Given the description of an element on the screen output the (x, y) to click on. 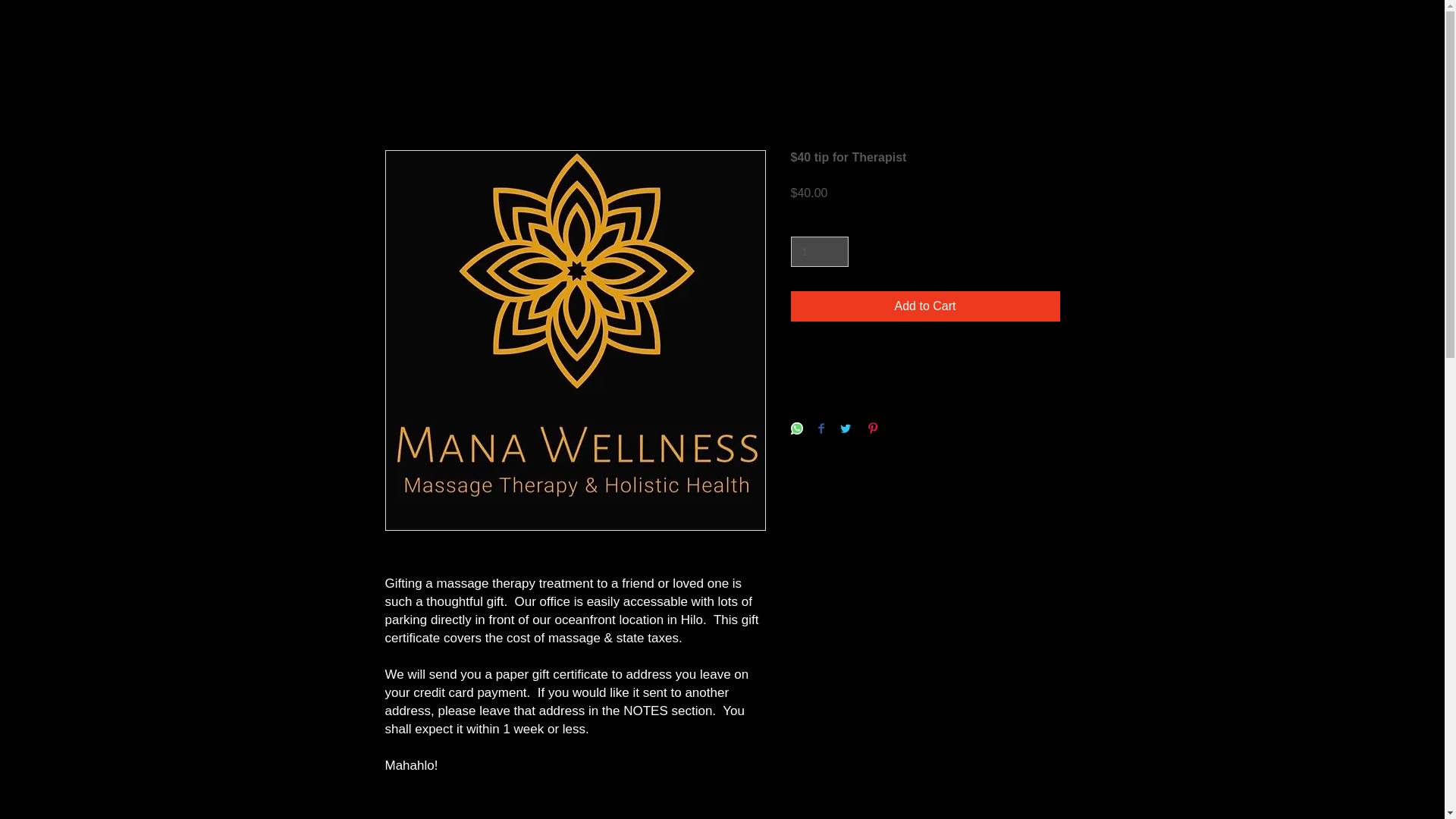
Must be used within 1 year of purchase (924, 366)
Add to Cart (924, 306)
1 (818, 251)
